Given the description of an element on the screen output the (x, y) to click on. 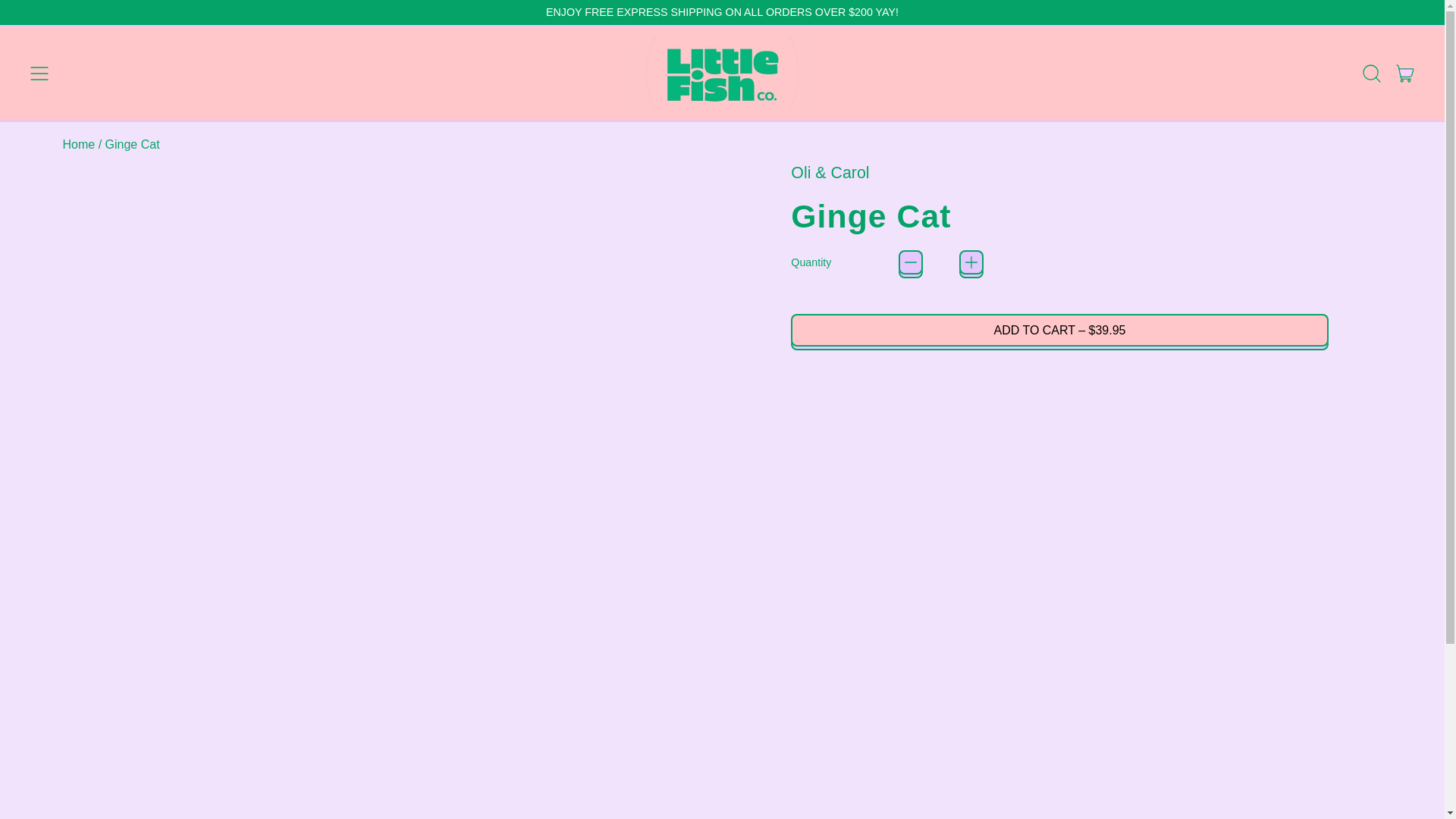
Search our site (1372, 73)
Back to the frontpage (78, 144)
Home (78, 144)
Menu (1405, 73)
